Given the description of an element on the screen output the (x, y) to click on. 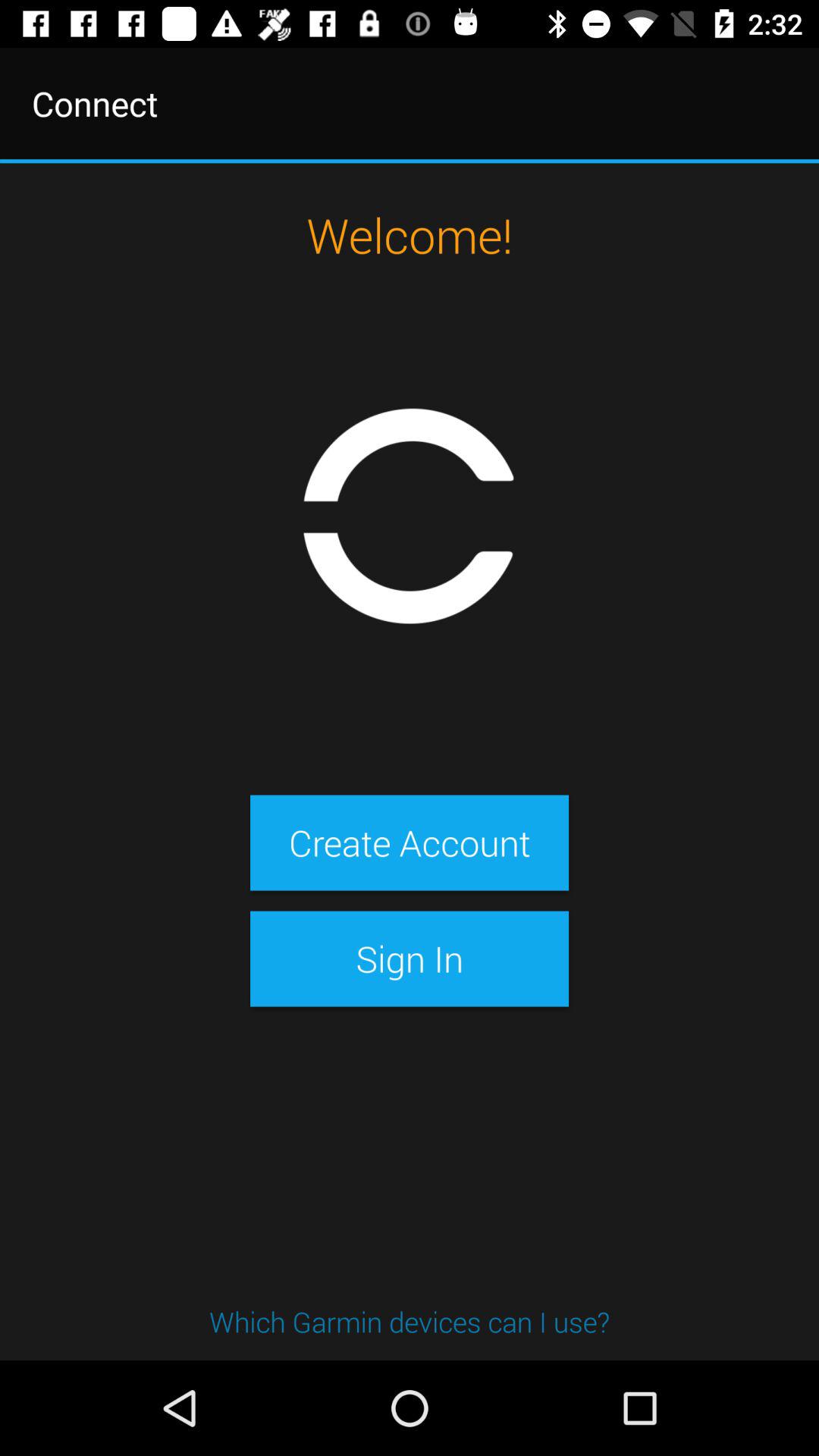
choose item below the create account item (409, 958)
